Given the description of an element on the screen output the (x, y) to click on. 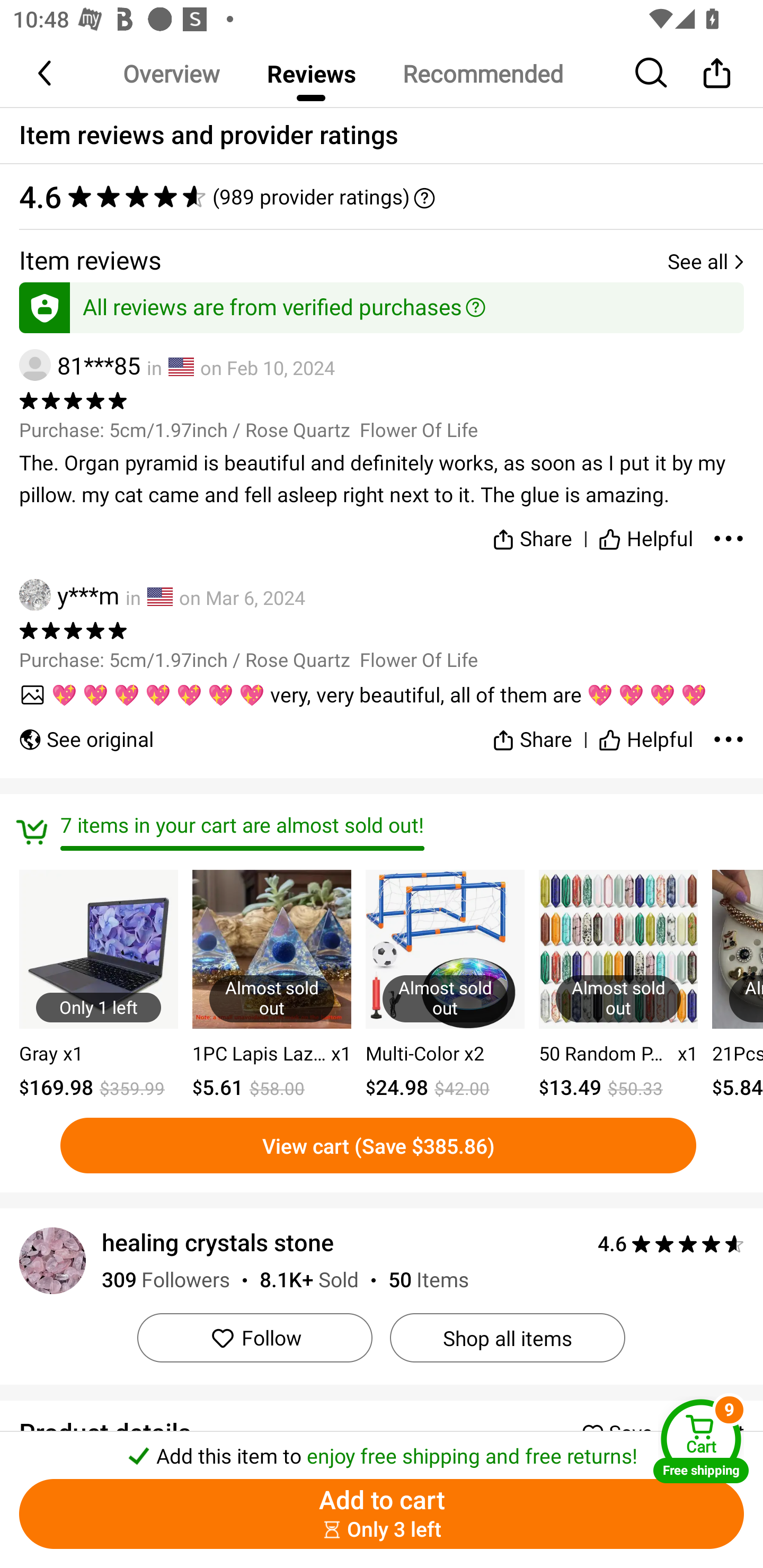
Overview (171, 72)
Reviews (311, 72)
Recommended (482, 72)
Back (46, 72)
Share (716, 72)
4.6 ‪(989 provider ratings) (381, 196)
All reviews are from verified purchases  (381, 303)
81***85 (79, 365)
  Share (532, 535)
  Helpful (645, 535)
y***m (69, 594)
  See original (86, 731)
  Share (532, 731)
  Helpful (645, 731)
Only 1 left Gray  x1 $169.98 $359.99 (98, 986)
Almost sold out 1PC Lapis Lazuli  x1 $5.61 $58.00 (271, 986)
Almost sold out Multi-Color  x2 $24.98 $42.00 (444, 986)
Almost sold out 50 Random Pcs  x1 $13.49 $50.33 (618, 986)
View cart (Save $385.86) (377, 1144)
  Follow (254, 1337)
Shop all items (506, 1337)
Cart Free shipping Cart (701, 1440)
Add to cart ￼￼Only 3 left (381, 1513)
